Given the description of an element on the screen output the (x, y) to click on. 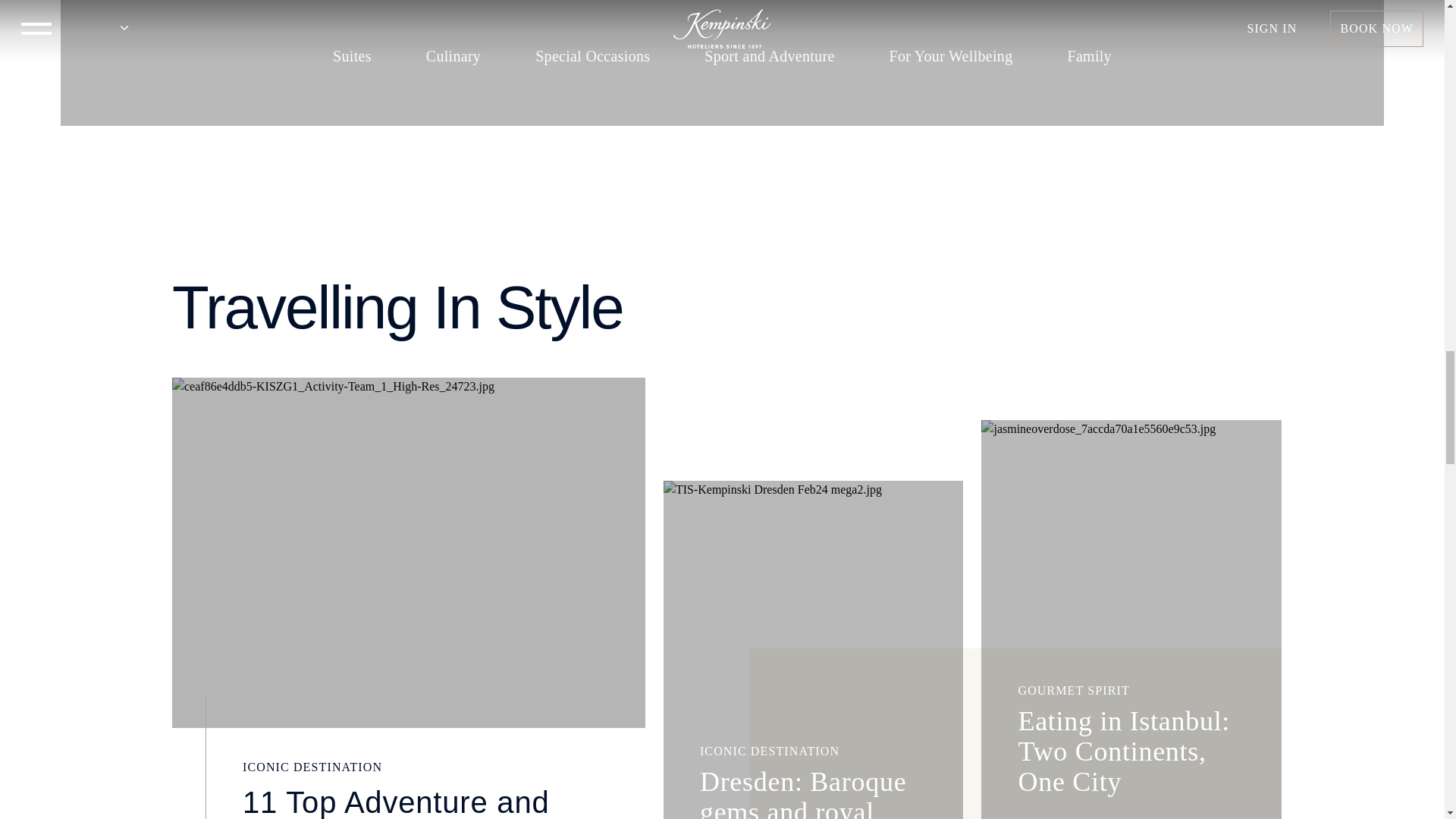
For Your Wellbeing (951, 55)
Family (1088, 55)
Sport and Adventure (769, 55)
Suites (352, 55)
Special Occasions (592, 55)
Culinary (453, 55)
